Given the description of an element on the screen output the (x, y) to click on. 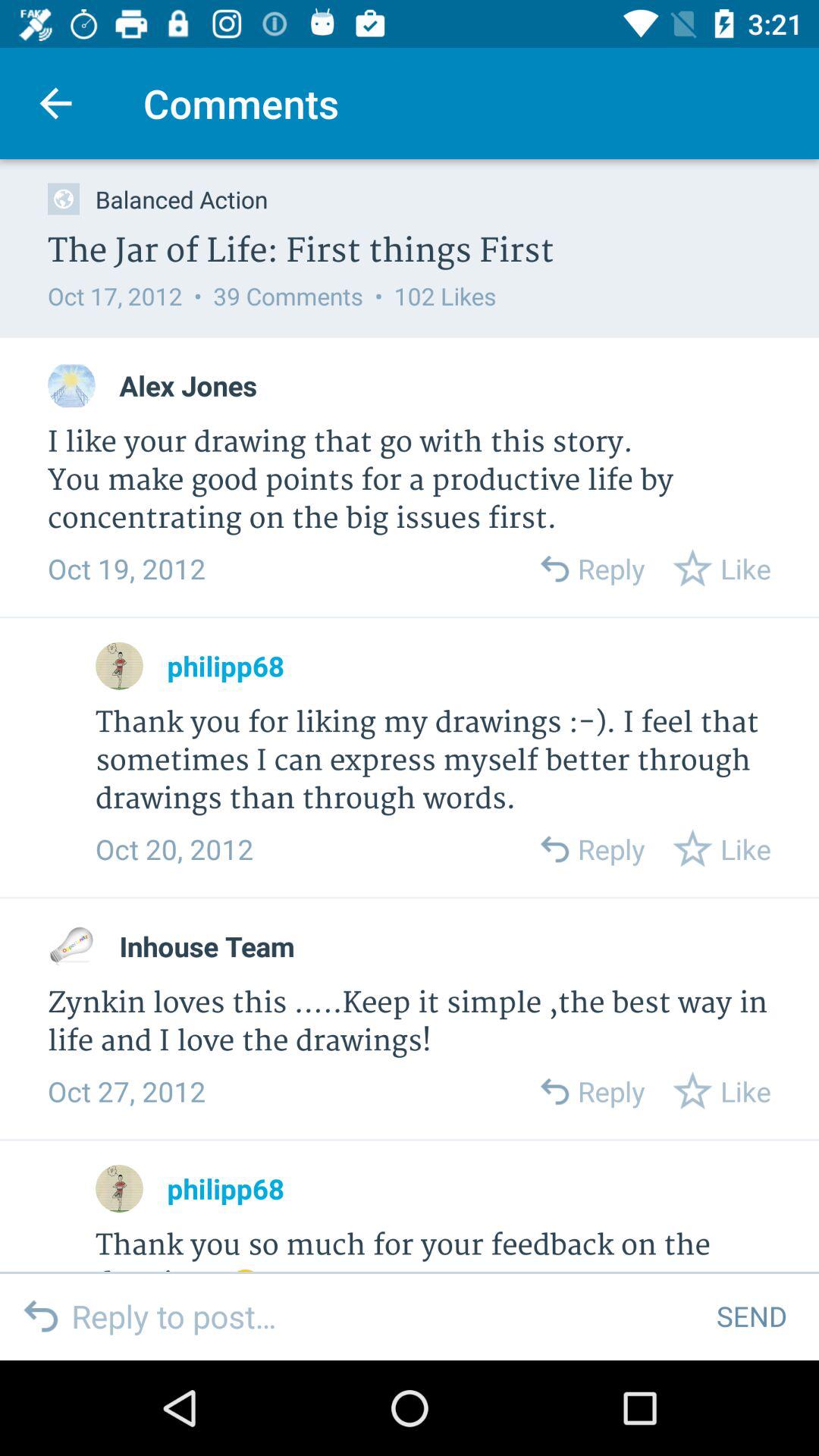
go to back (553, 1091)
